Given the description of an element on the screen output the (x, y) to click on. 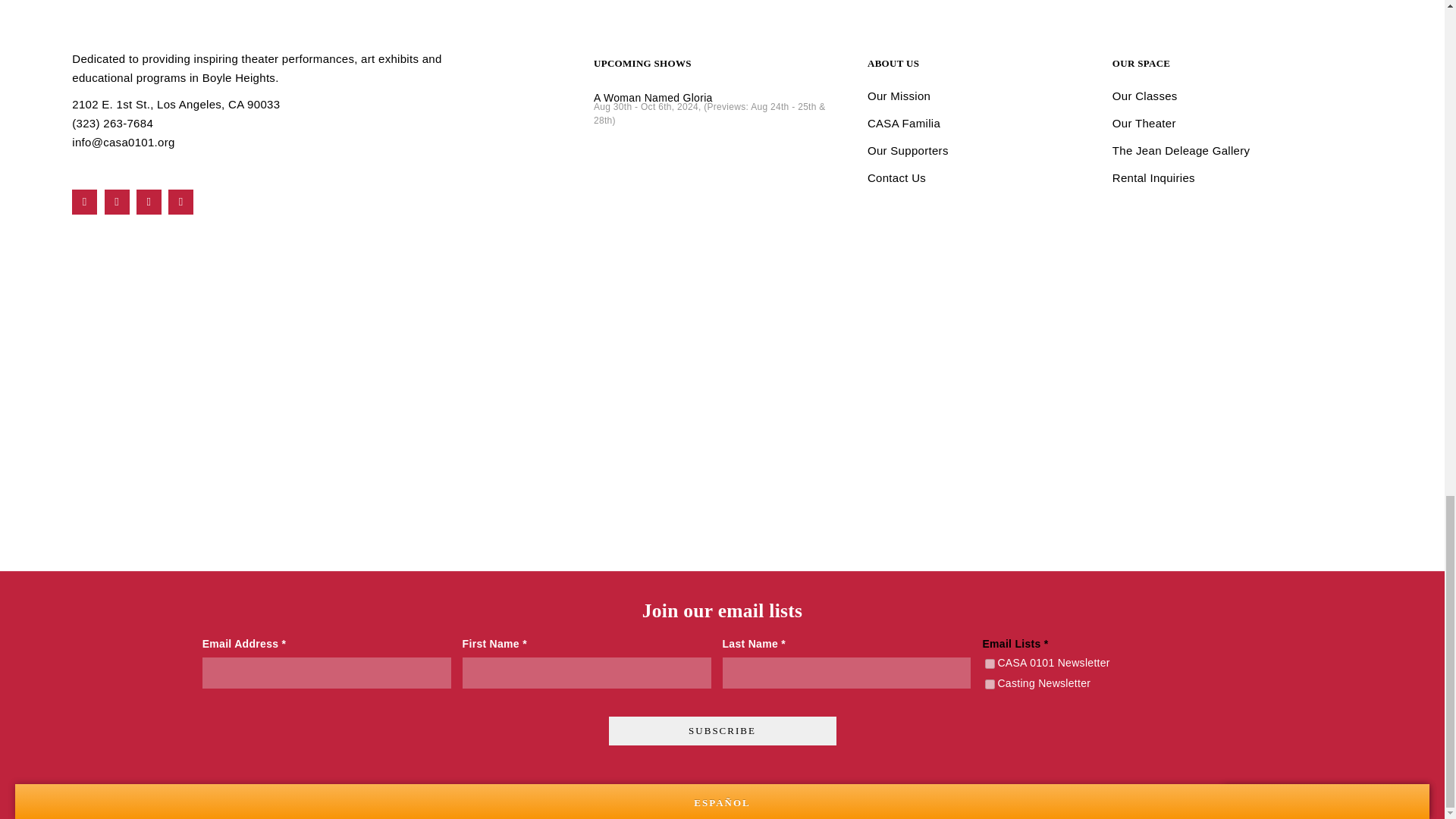
Subscribe (721, 730)
2 (989, 684)
1 (989, 664)
